Given the description of an element on the screen output the (x, y) to click on. 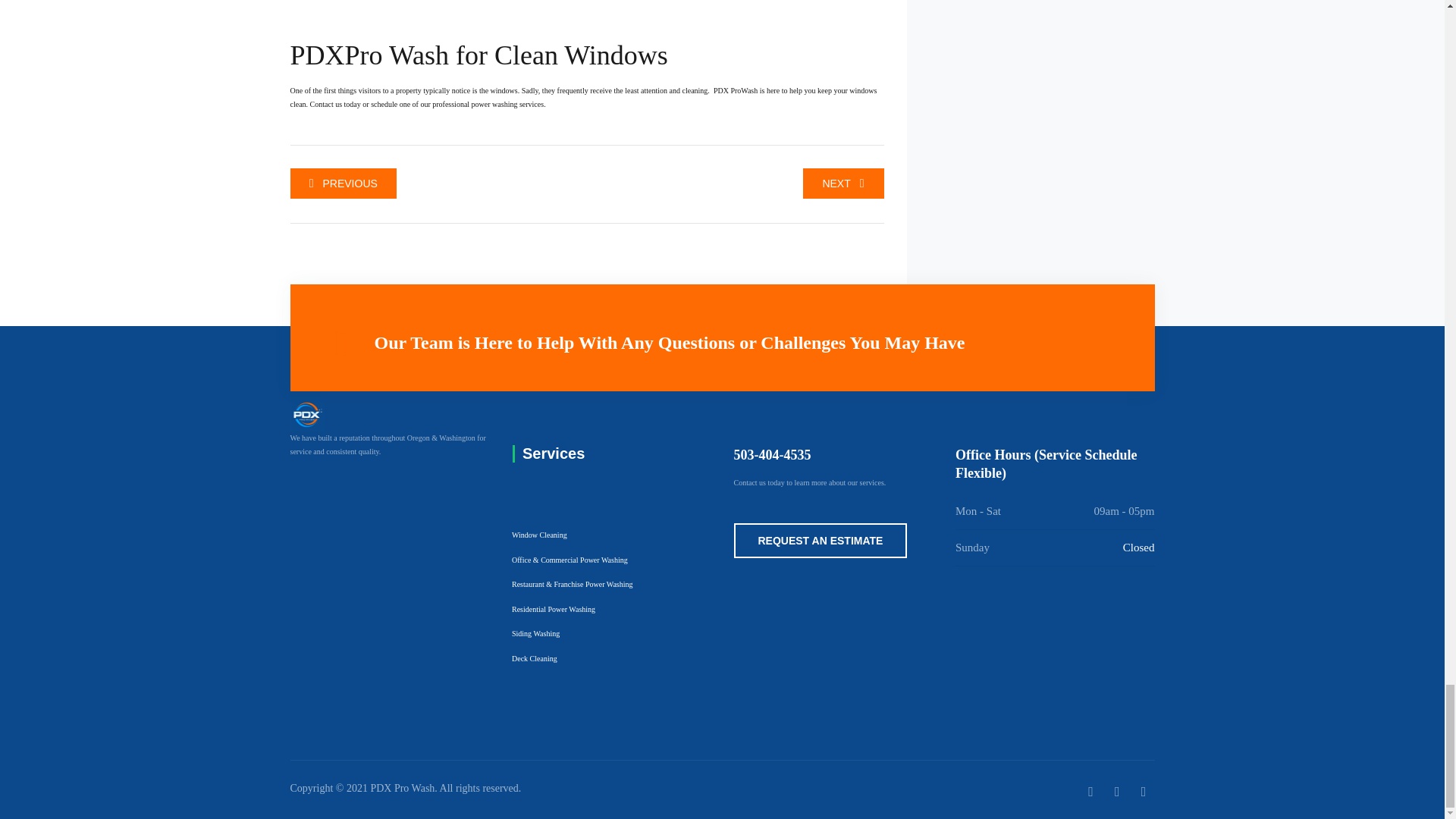
PDX ProWash (735, 90)
professional power washing services (486, 103)
PREVIOUS (342, 183)
Extra Parking Space Ideas (342, 183)
12 Vinyl Window Maintenance Tips (843, 183)
NEXT (843, 183)
Contact us (324, 103)
